Given the description of an element on the screen output the (x, y) to click on. 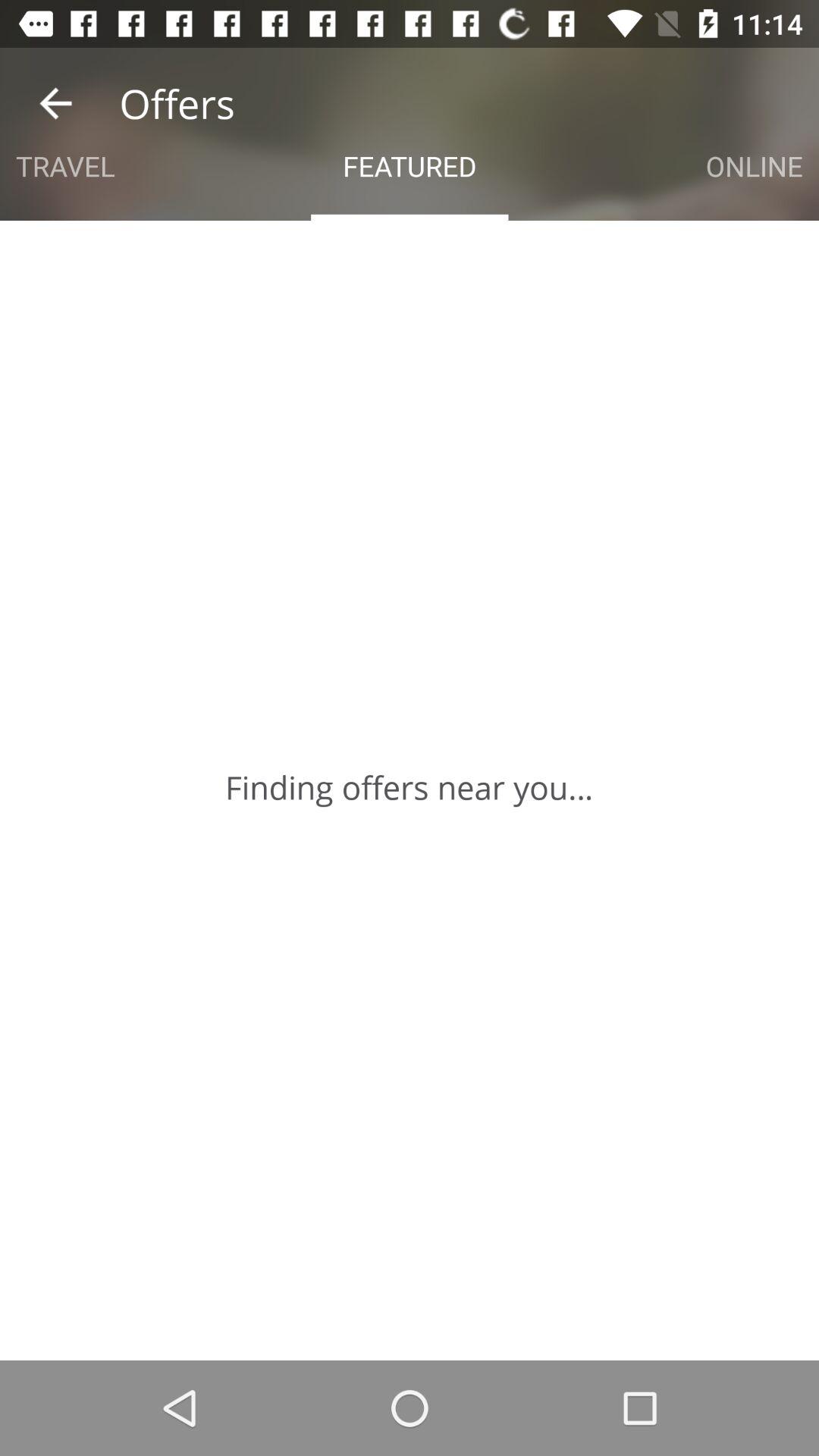
turn on the icon to the right of the featured item (754, 165)
